Given the description of an element on the screen output the (x, y) to click on. 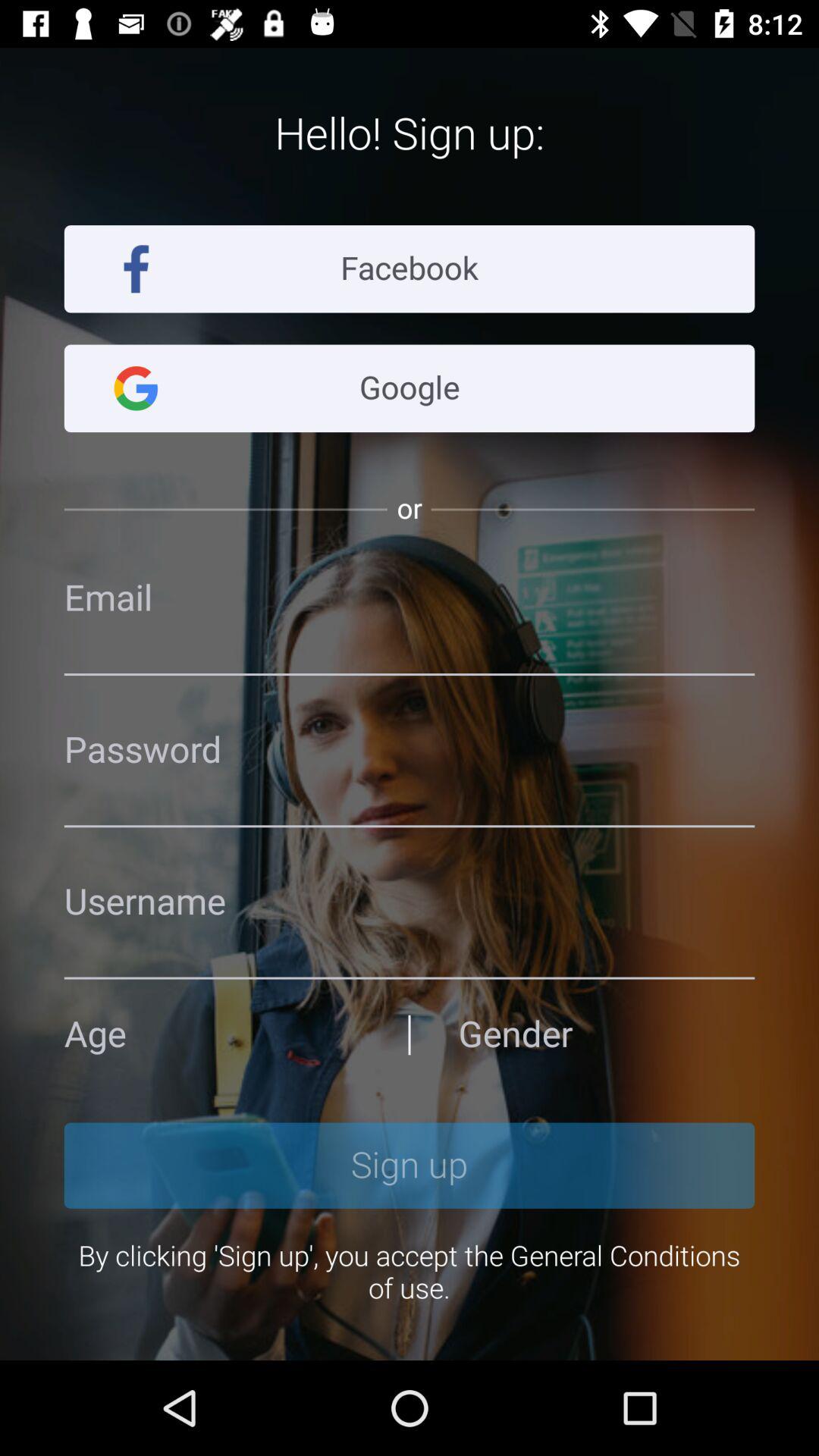
address page (409, 750)
